Given the description of an element on the screen output the (x, y) to click on. 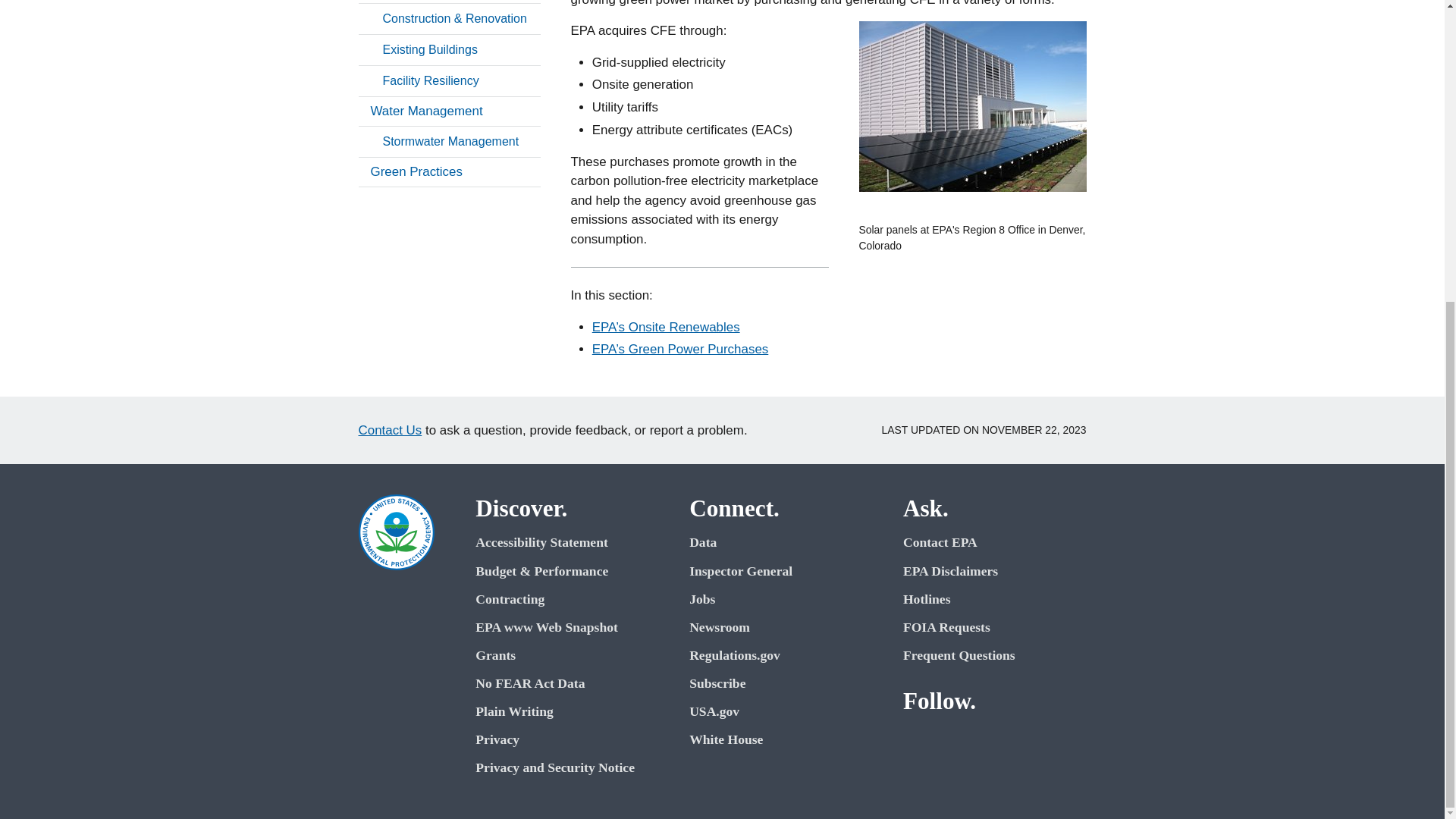
Facility Resiliency (449, 81)
Data (780, 542)
Stormwater Management (449, 141)
Contact Us (390, 430)
Water Management (449, 111)
No FEAR Act Data (567, 683)
Green Buildings (449, 1)
Accessibility Statement (567, 542)
Existing Buildings (449, 50)
Plain Writing (567, 711)
